Given the description of an element on the screen output the (x, y) to click on. 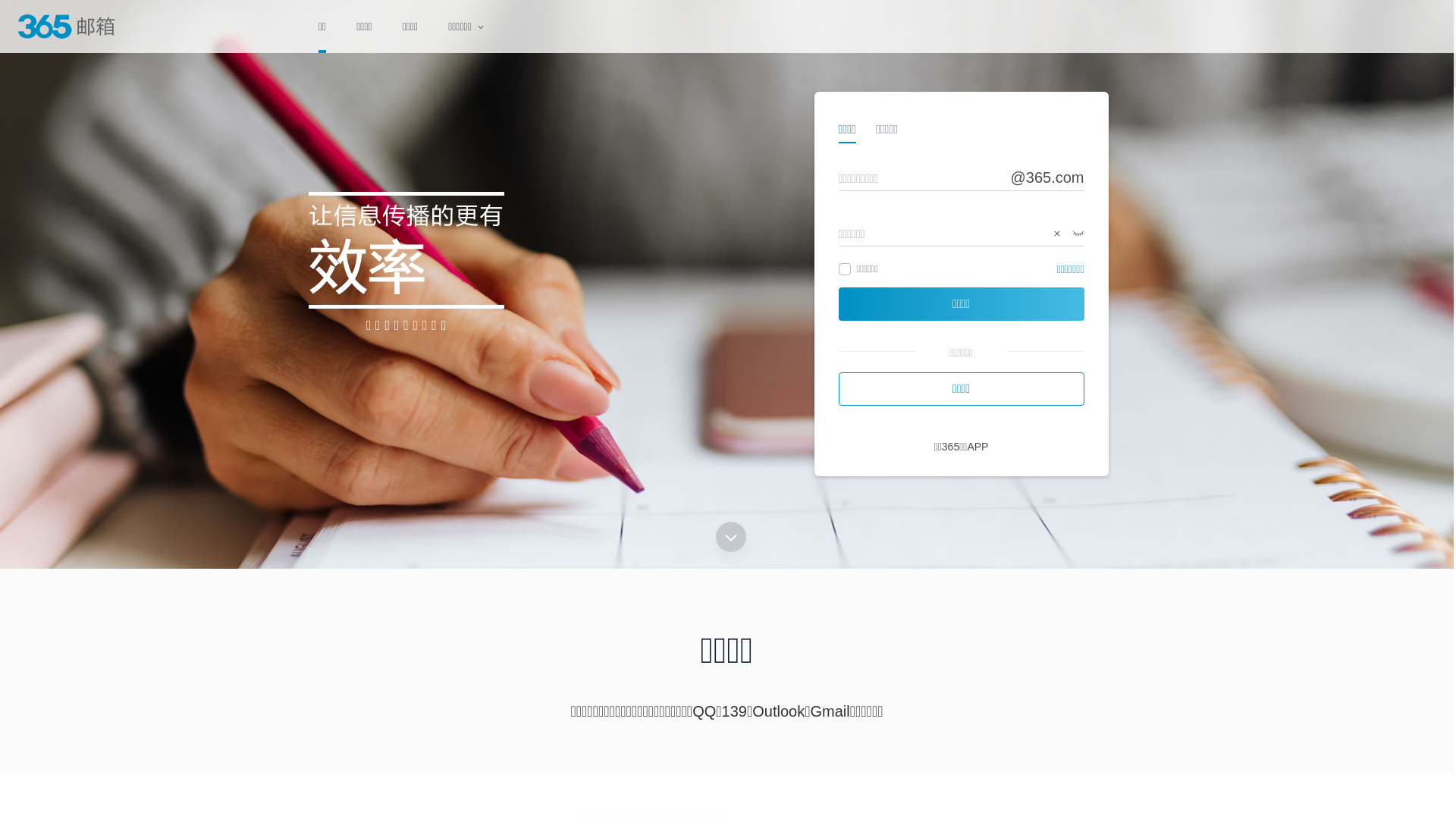
login Element type: text (16, 7)
